Given the description of an element on the screen output the (x, y) to click on. 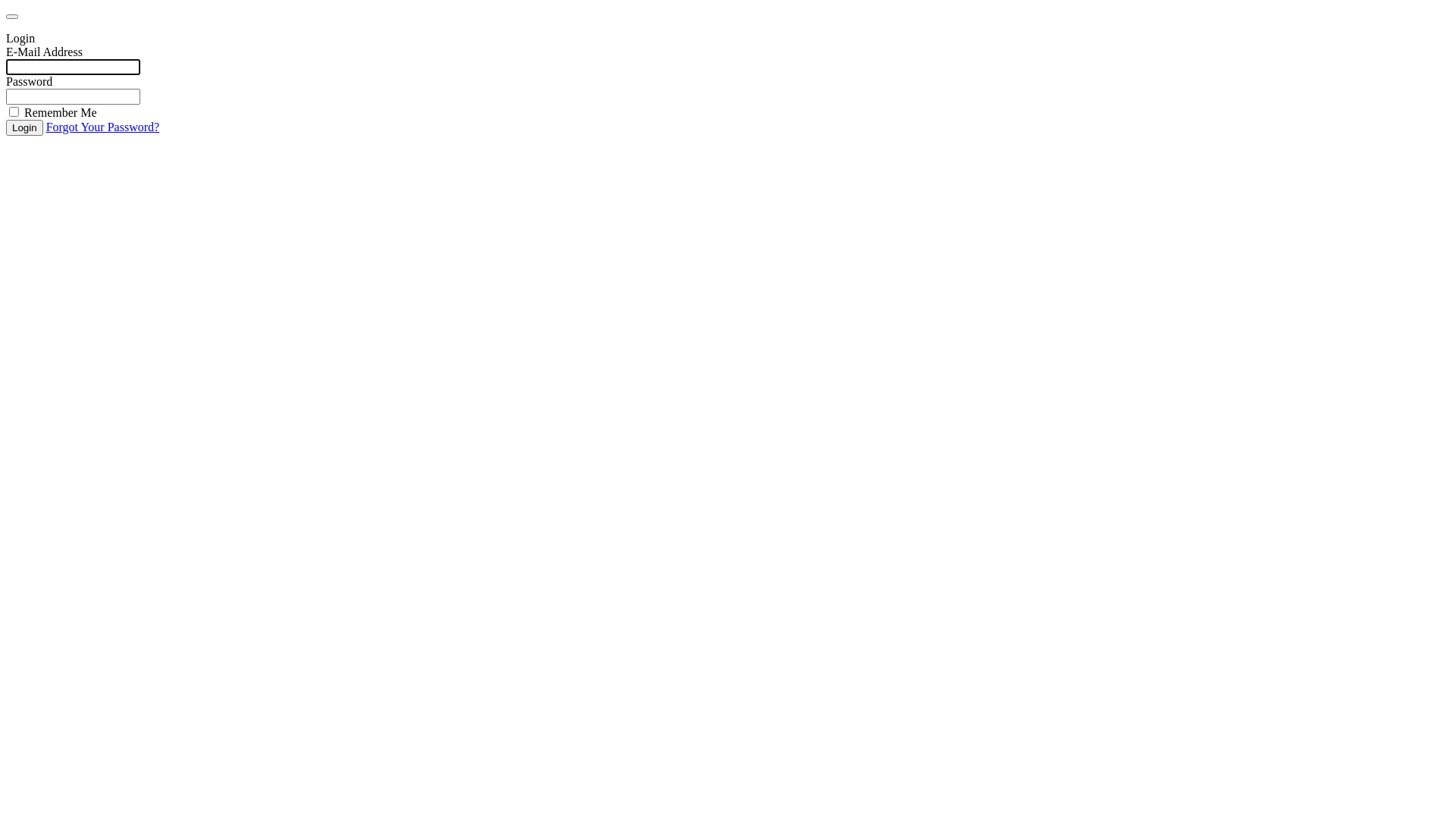
Forgot Your Password? Element type: text (103, 126)
Login Element type: text (24, 127)
